Given the description of an element on the screen output the (x, y) to click on. 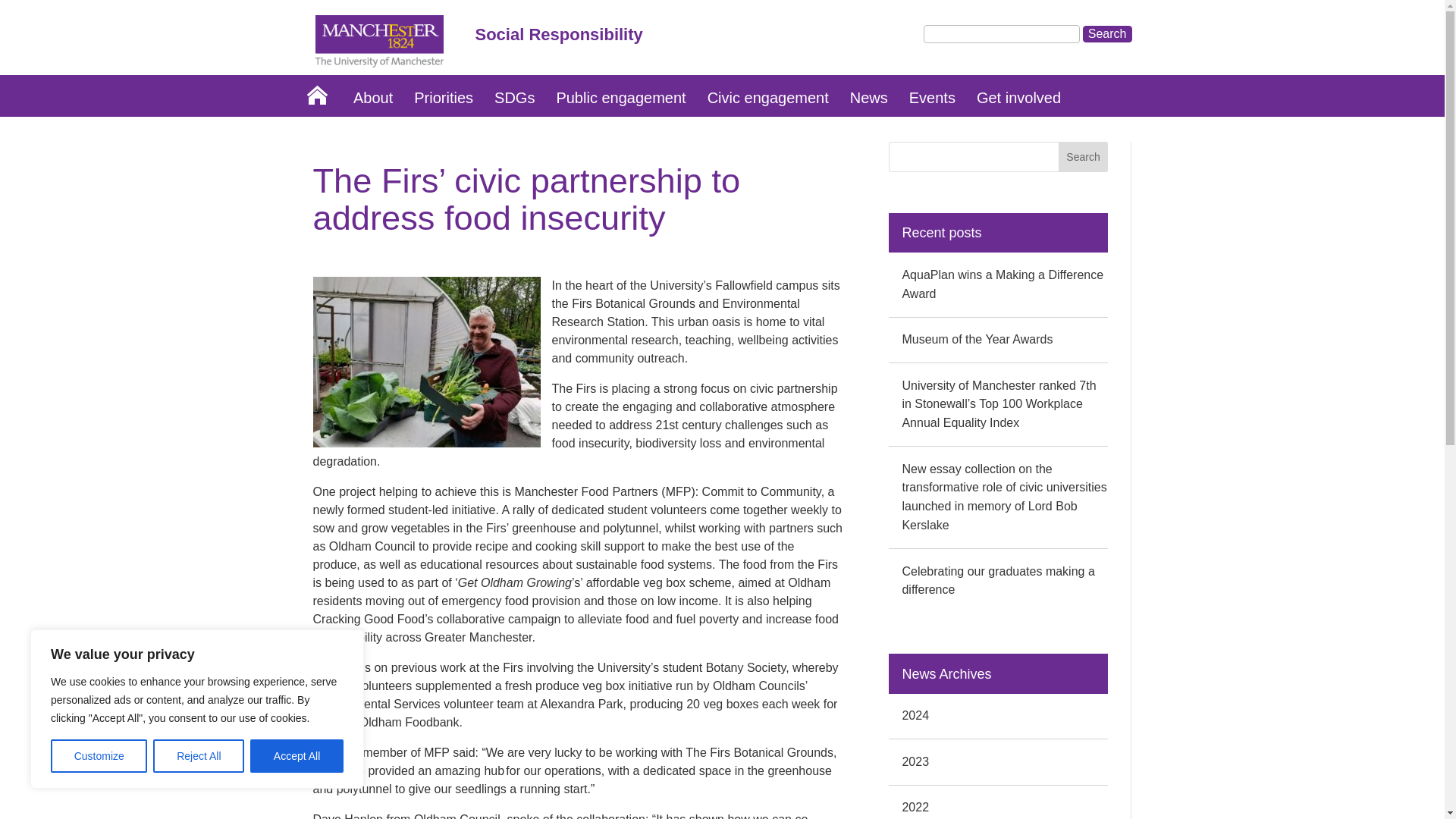
Search (1083, 156)
Search (1107, 33)
Customize (98, 756)
Accept All (296, 756)
Reject All (198, 756)
Search (1107, 33)
Social Responsibility (737, 38)
